Given the description of an element on the screen output the (x, y) to click on. 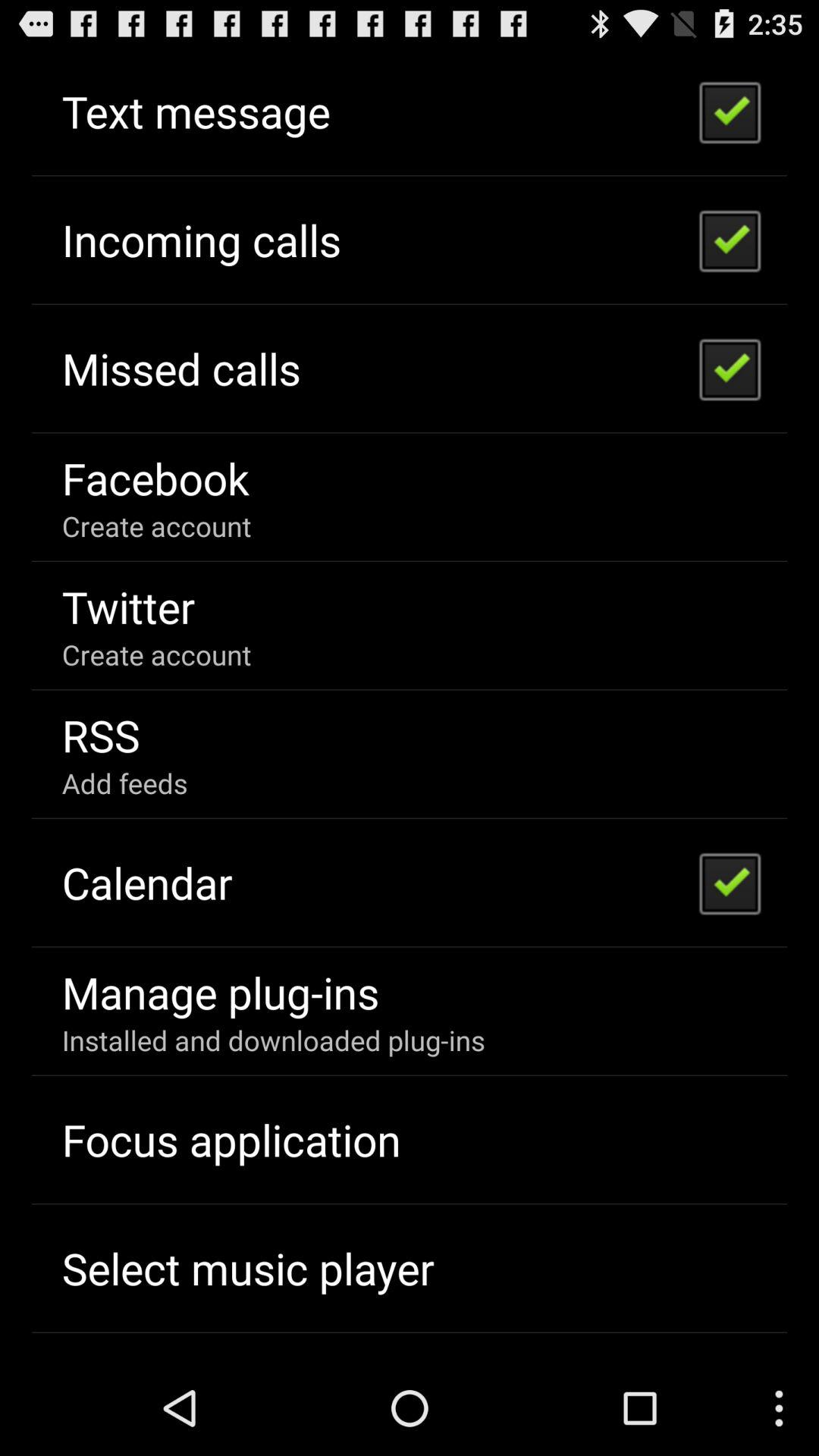
turn on the item below text message item (201, 239)
